Given the description of an element on the screen output the (x, y) to click on. 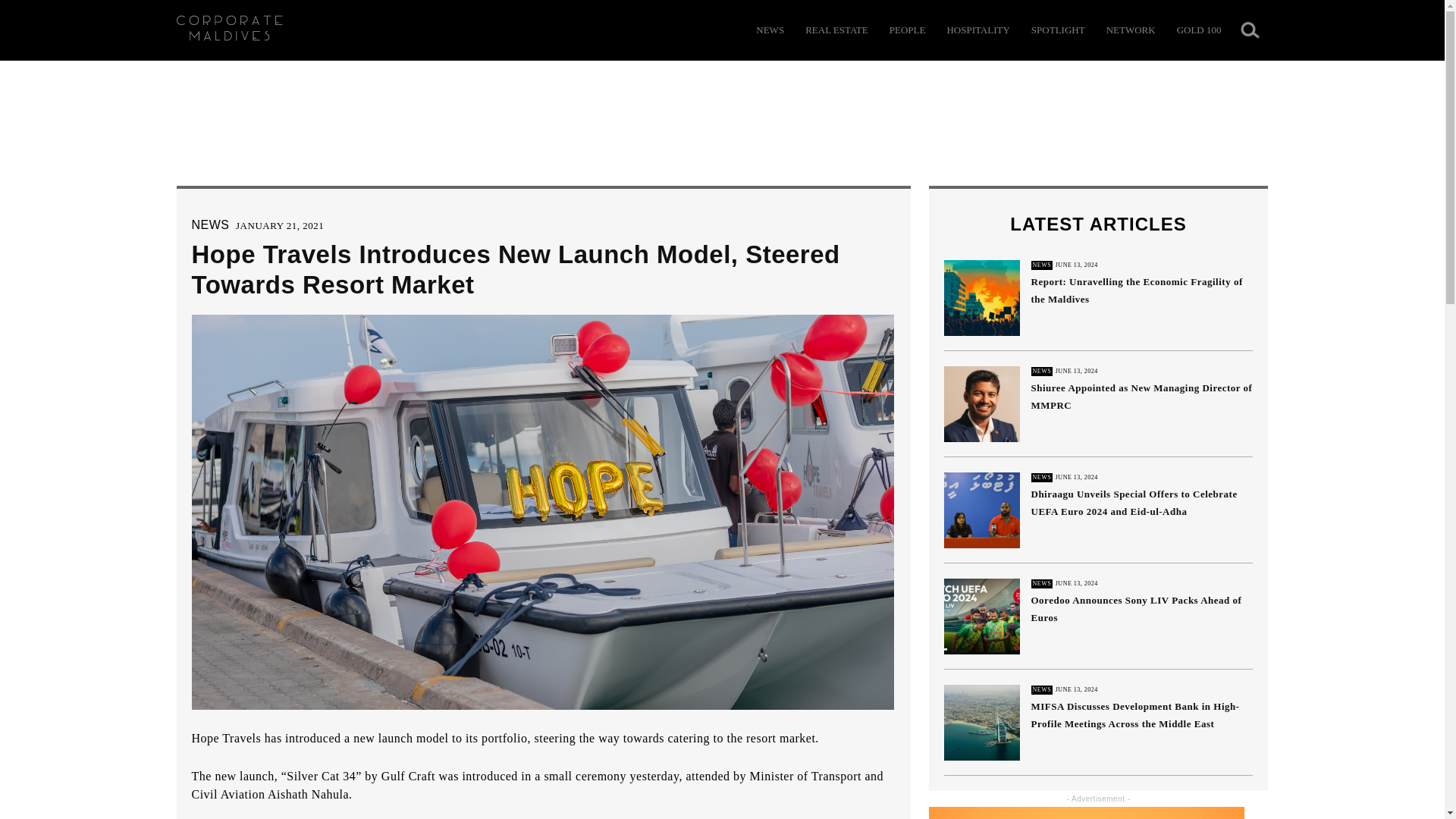
NETWORK (1131, 30)
NEWS (209, 224)
REAL ESTATE (836, 30)
NEWS (769, 30)
HOSPITALITY (977, 30)
PEOPLE (907, 30)
SPOTLIGHT (1057, 30)
GOLD 100 (1198, 30)
